Given the description of an element on the screen output the (x, y) to click on. 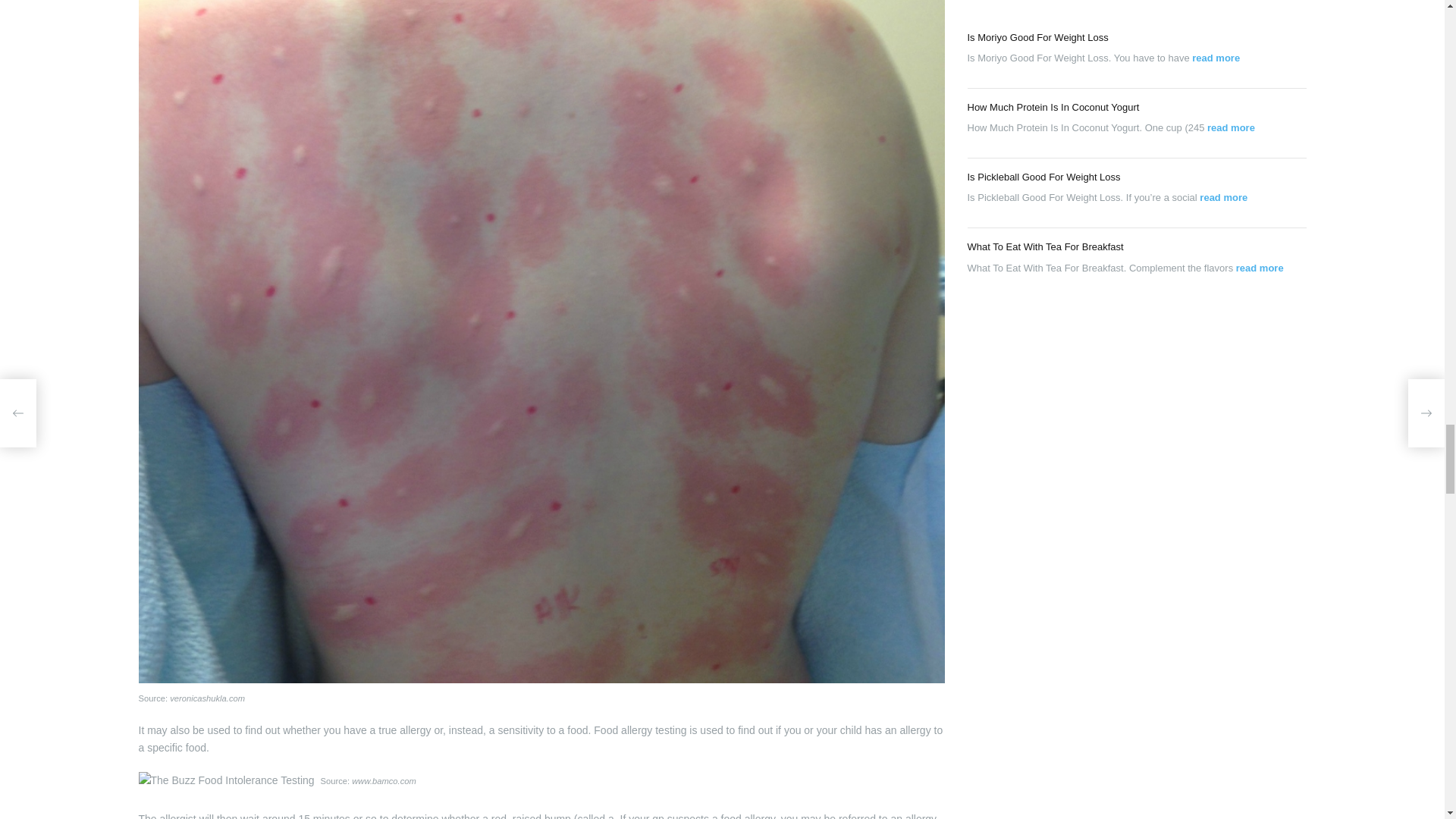
What Food Allergies Do They Test For 44 (226, 780)
